Given the description of an element on the screen output the (x, y) to click on. 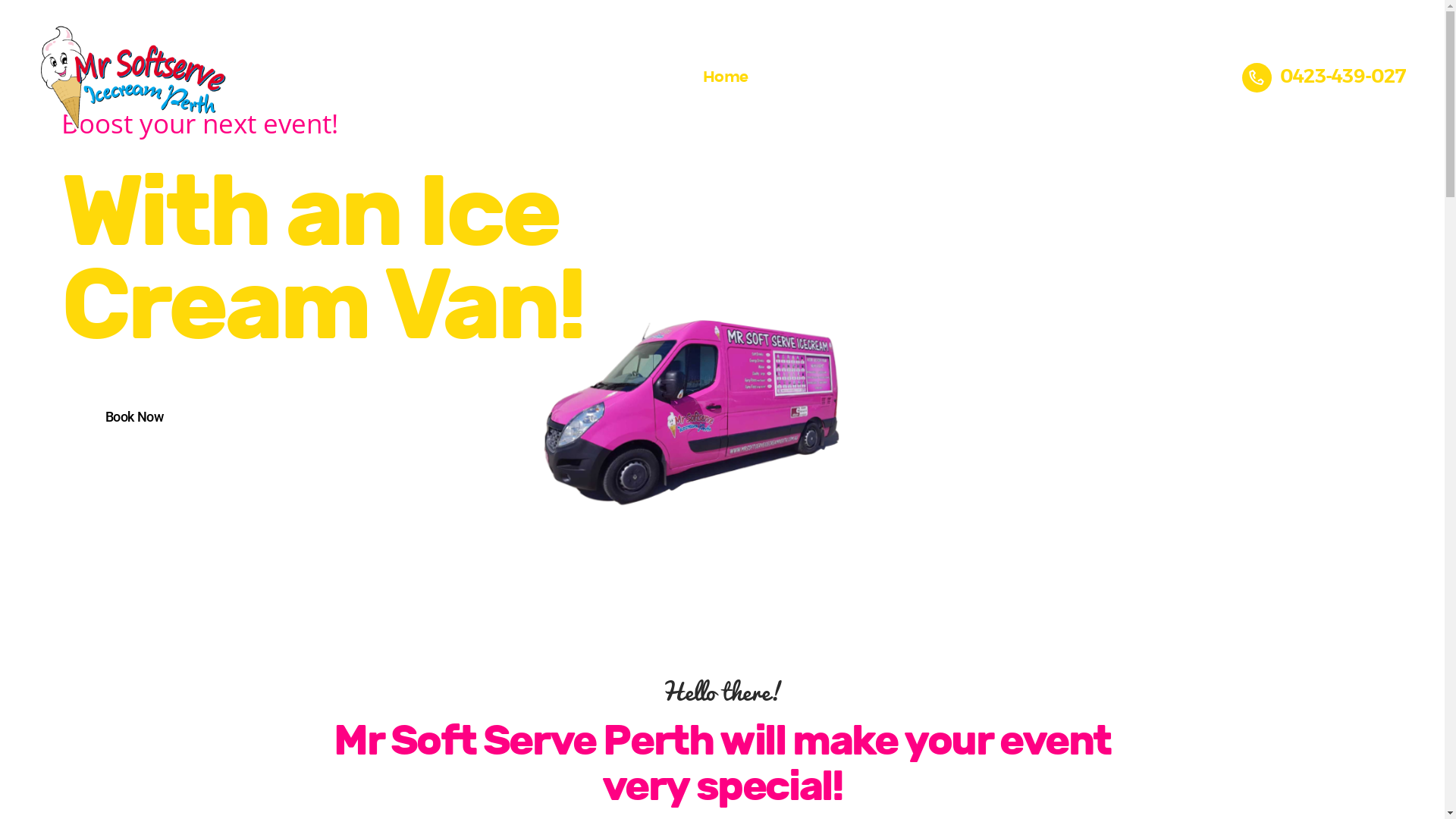
Bookings Element type: text (877, 76)
About Us Element type: text (795, 76)
Contact Info Element type: text (1175, 76)
Blog Element type: text (1100, 76)
0423-439-027 Element type: text (1323, 77)
Price List Element type: text (957, 76)
Book Now Element type: text (134, 415)
Home Element type: text (725, 76)
Products Element type: text (1037, 76)
